Given the description of an element on the screen output the (x, y) to click on. 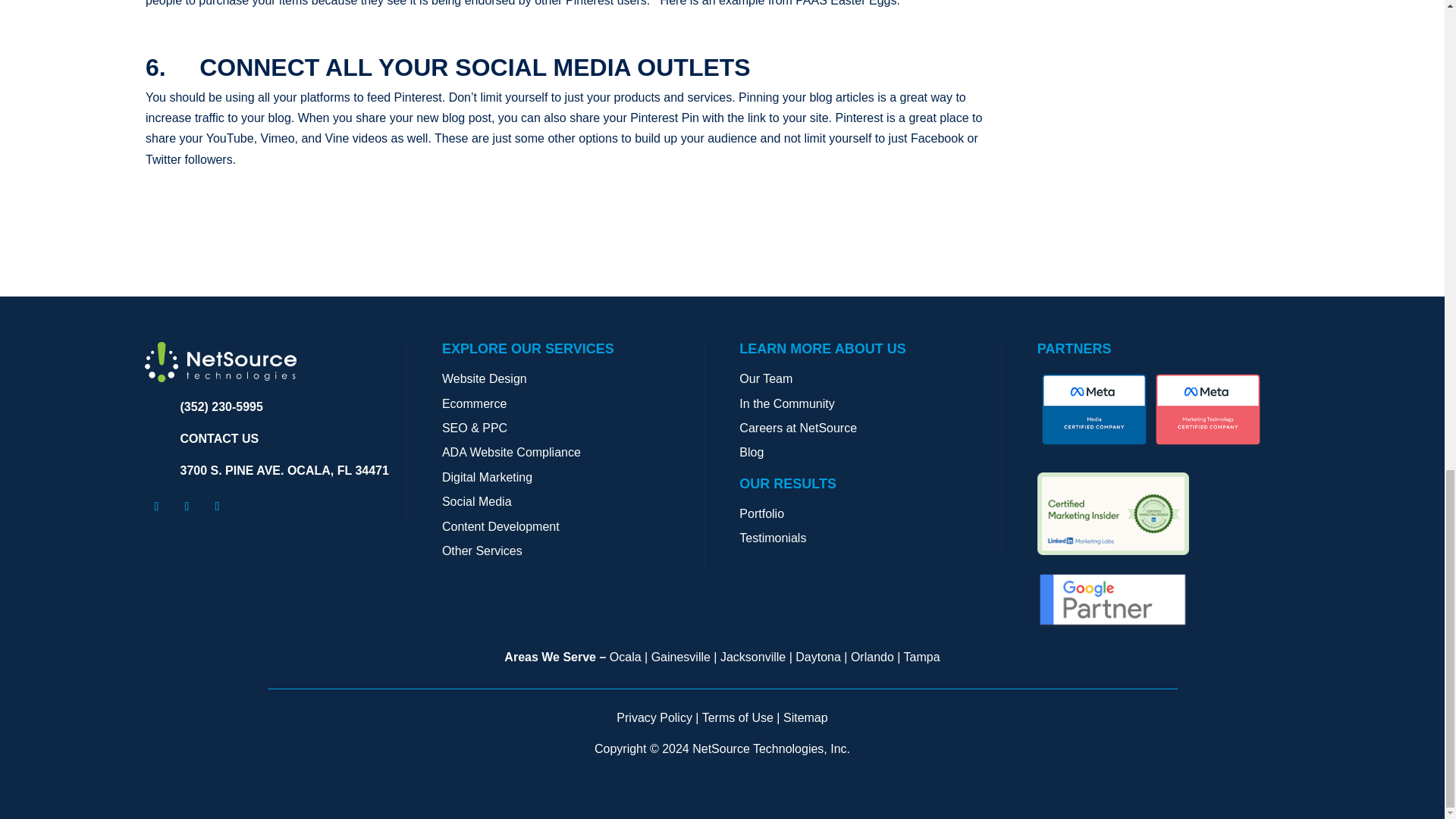
Our Team (765, 378)
Follow on LinkedIn (216, 506)
Follow on X (186, 506)
Website Design (484, 378)
Other Services (482, 550)
3700 S. PINE AVE. OCALA, FL 34471 (284, 470)
Website Design (484, 378)
Our Team (765, 378)
Content Development (500, 526)
Ecommerce (474, 403)
